Given the description of an element on the screen output the (x, y) to click on. 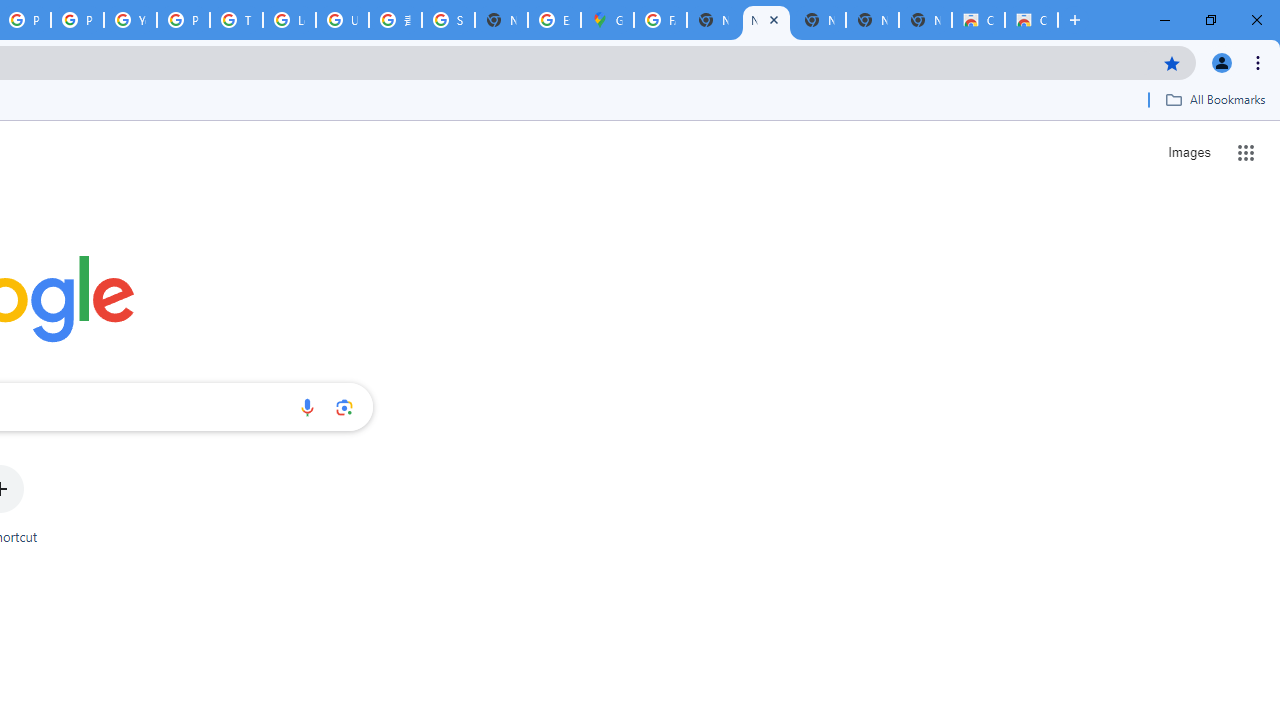
Classic Blue - Chrome Web Store (1031, 20)
YouTube (130, 20)
Google apps (1245, 152)
Search by voice (307, 407)
Search for Images  (1188, 152)
Explore new street-level details - Google Maps Help (554, 20)
Search by image (344, 407)
